Given the description of an element on the screen output the (x, y) to click on. 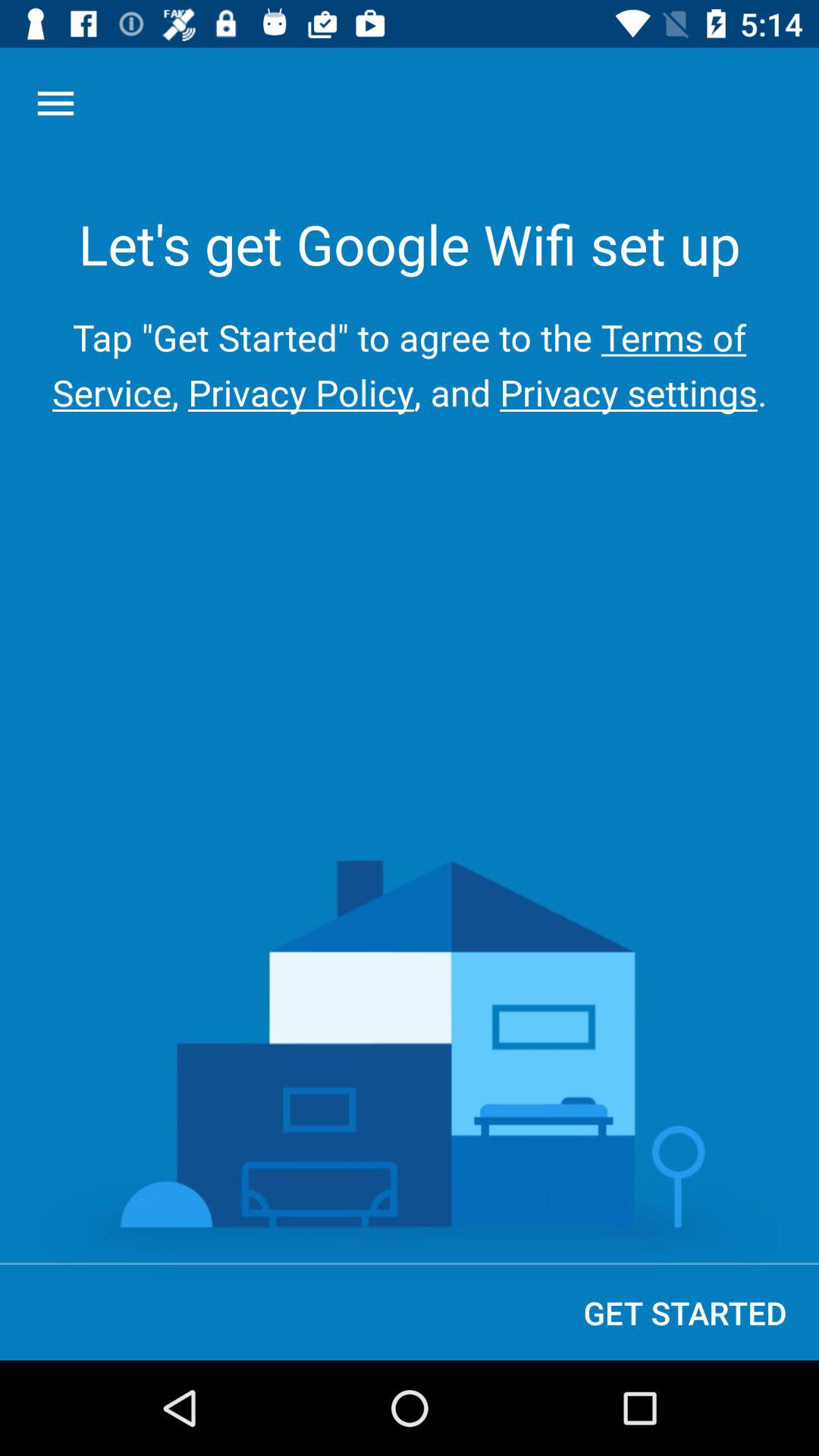
open icon at the top left corner (55, 103)
